Given the description of an element on the screen output the (x, y) to click on. 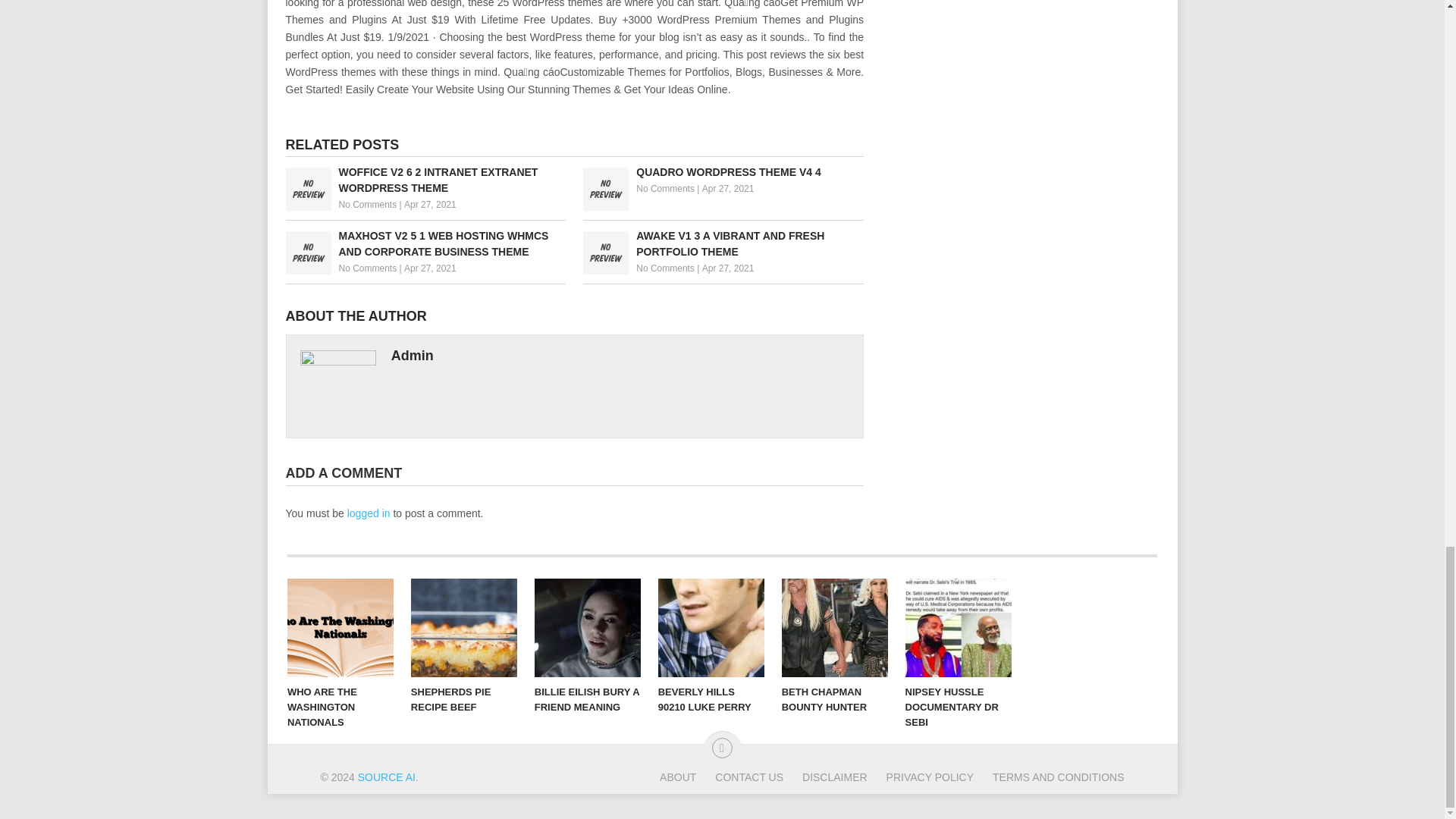
No Comments (665, 188)
No Comments (665, 267)
Quadro WordPress Theme V4 4 (723, 172)
Woffice V2 6 2 Intranet Extranet WordPress Theme (425, 180)
AWAKE V1 3 A VIBRANT AND FRESH PORTFOLIO THEME (723, 244)
WOFFICE V2 6 2 INTRANET EXTRANET WORDPRESS THEME (425, 180)
Who Are The Washington Nationals (339, 627)
logged in (368, 512)
No Comments (366, 267)
Awake V1 3 A Vibrant And Fresh Portfolio Theme (723, 244)
No Comments (366, 204)
QUADRO WORDPRESS THEME V4 4 (723, 172)
